Given the description of an element on the screen output the (x, y) to click on. 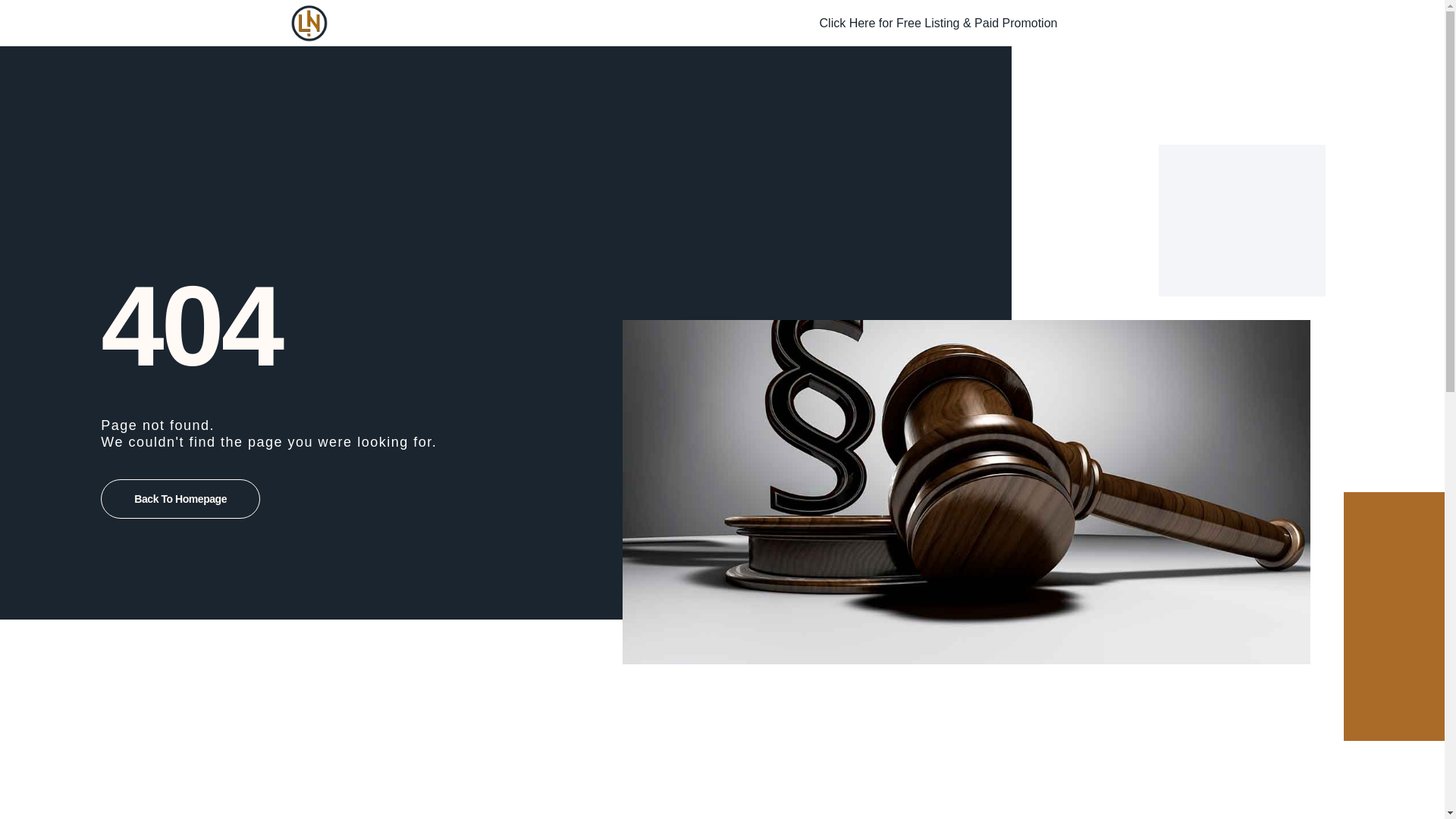
Back To Homepage (180, 498)
